Given the description of an element on the screen output the (x, y) to click on. 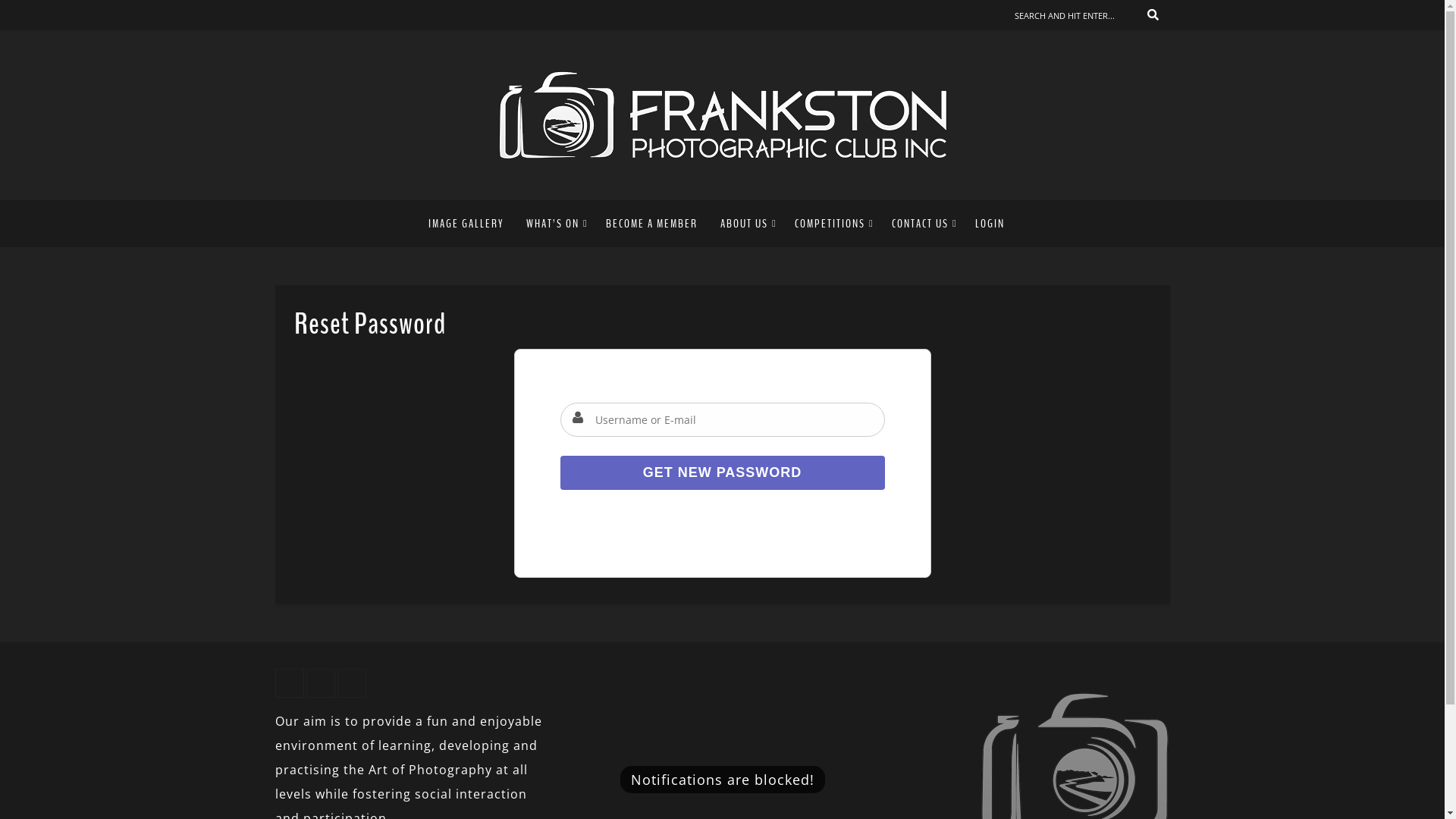
BECOME A MEMBER Element type: text (651, 223)
Instagram Element type: hover (350, 682)
LOGIN Element type: text (989, 223)
ABOUT US Element type: text (746, 223)
IMAGE GALLERY Element type: text (471, 223)
Facebook Element type: hover (285, 15)
COMPETITIONS Element type: text (831, 223)
Instagram Element type: hover (332, 15)
Facebook Element type: hover (288, 682)
CONTACT US Element type: text (921, 223)
YouTube Element type: hover (320, 682)
YouTube Element type: hover (309, 15)
Get New Password Element type: text (721, 472)
